Given the description of an element on the screen output the (x, y) to click on. 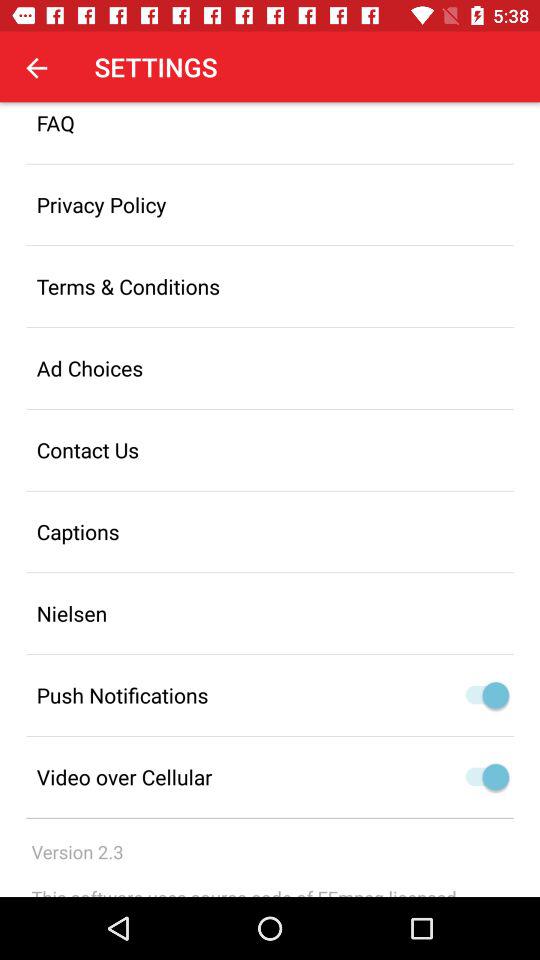
choose icon below contact us (270, 531)
